Given the description of an element on the screen output the (x, y) to click on. 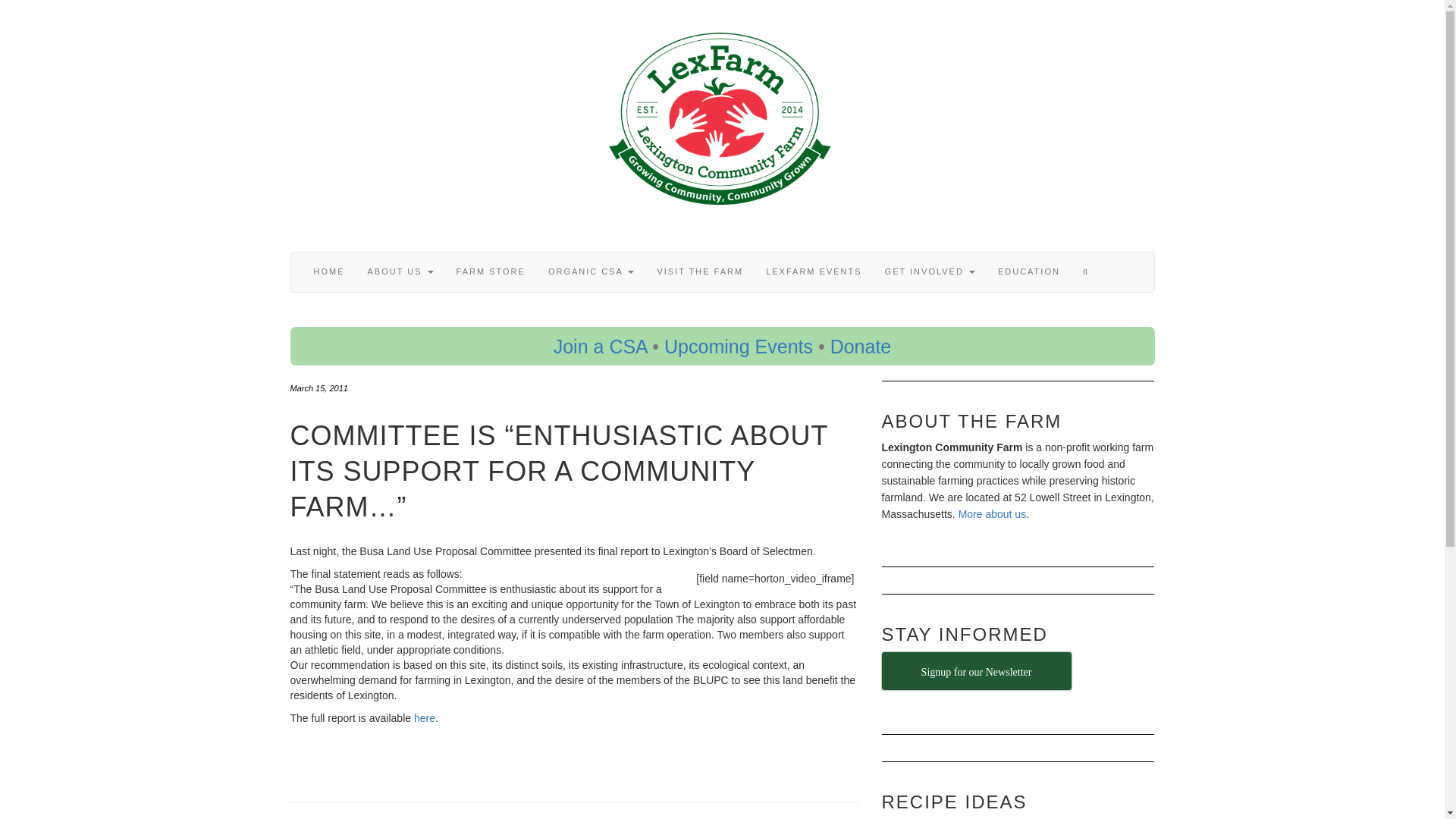
ABOUT US (400, 271)
LEXFARM EVENTS (813, 271)
Donate (860, 346)
EDUCATION (1029, 271)
Join a CSA (600, 346)
here (424, 717)
HOME (328, 271)
More about us (992, 513)
Upcoming Events (737, 346)
Signup for our Newsletter (975, 670)
ORGANIC CSA (591, 271)
GET INVOLVED (930, 271)
VISIT THE FARM (699, 271)
FARM STORE (491, 271)
